Given the description of an element on the screen output the (x, y) to click on. 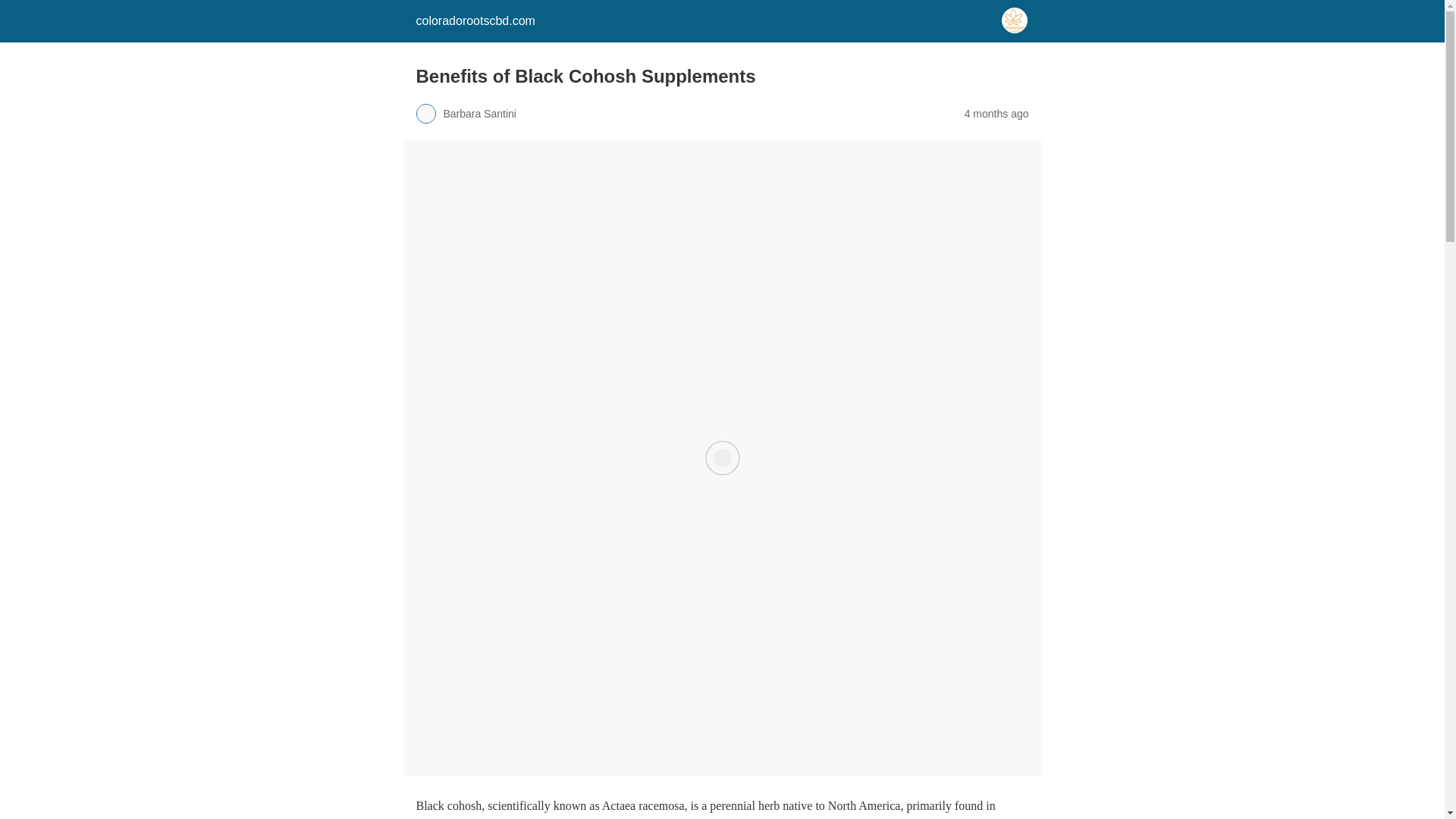
coloradorootscbd.com (474, 20)
